Given the description of an element on the screen output the (x, y) to click on. 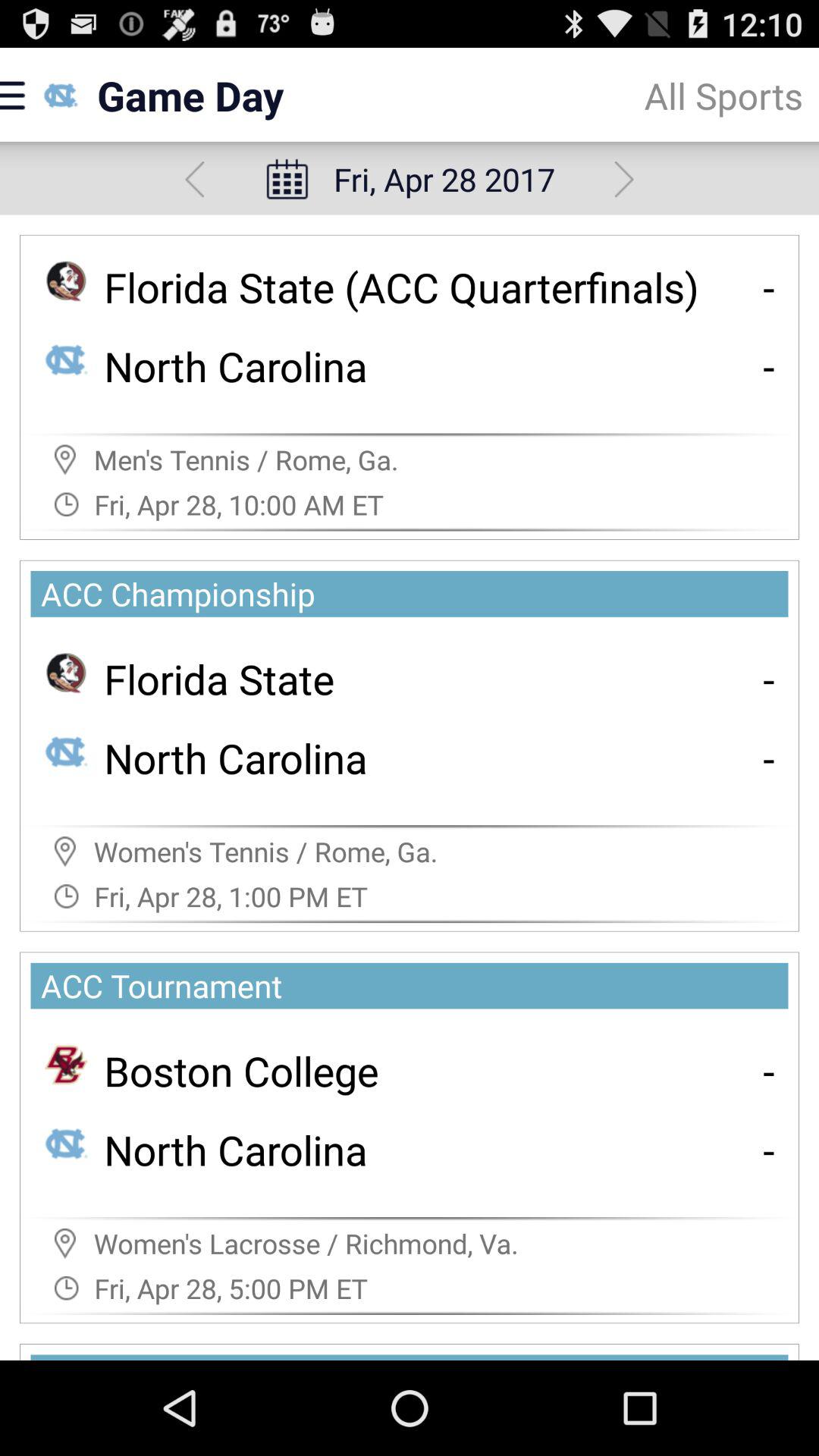
swipe to - icon (768, 365)
